Given the description of an element on the screen output the (x, y) to click on. 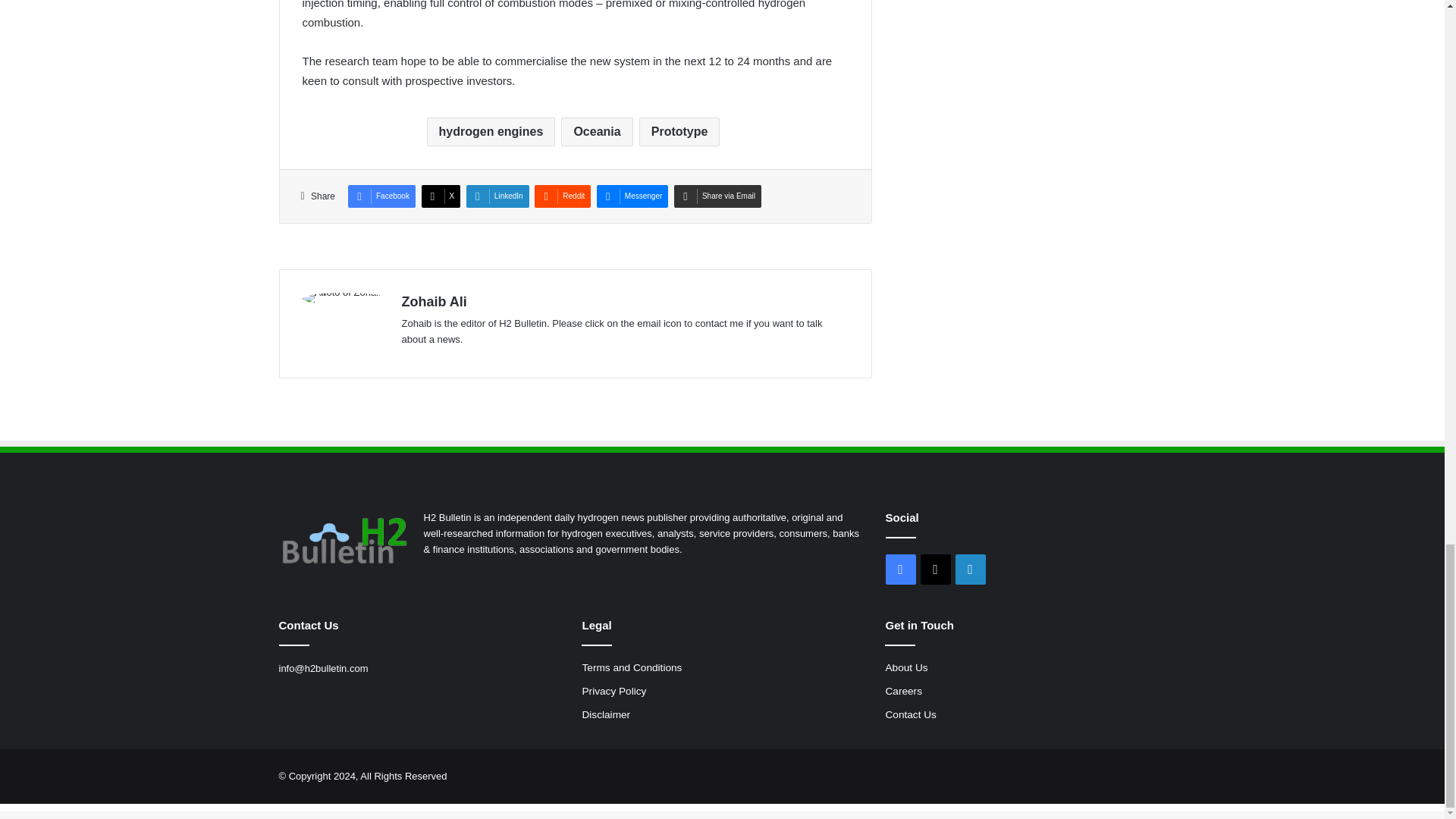
Oceania (595, 131)
Zohaib Ali (434, 301)
Reddit (562, 196)
Facebook (380, 196)
X (441, 196)
LinkedIn (497, 196)
Facebook (380, 196)
LinkedIn (497, 196)
hydrogen engines (491, 131)
Messenger (632, 196)
